Given the description of an element on the screen output the (x, y) to click on. 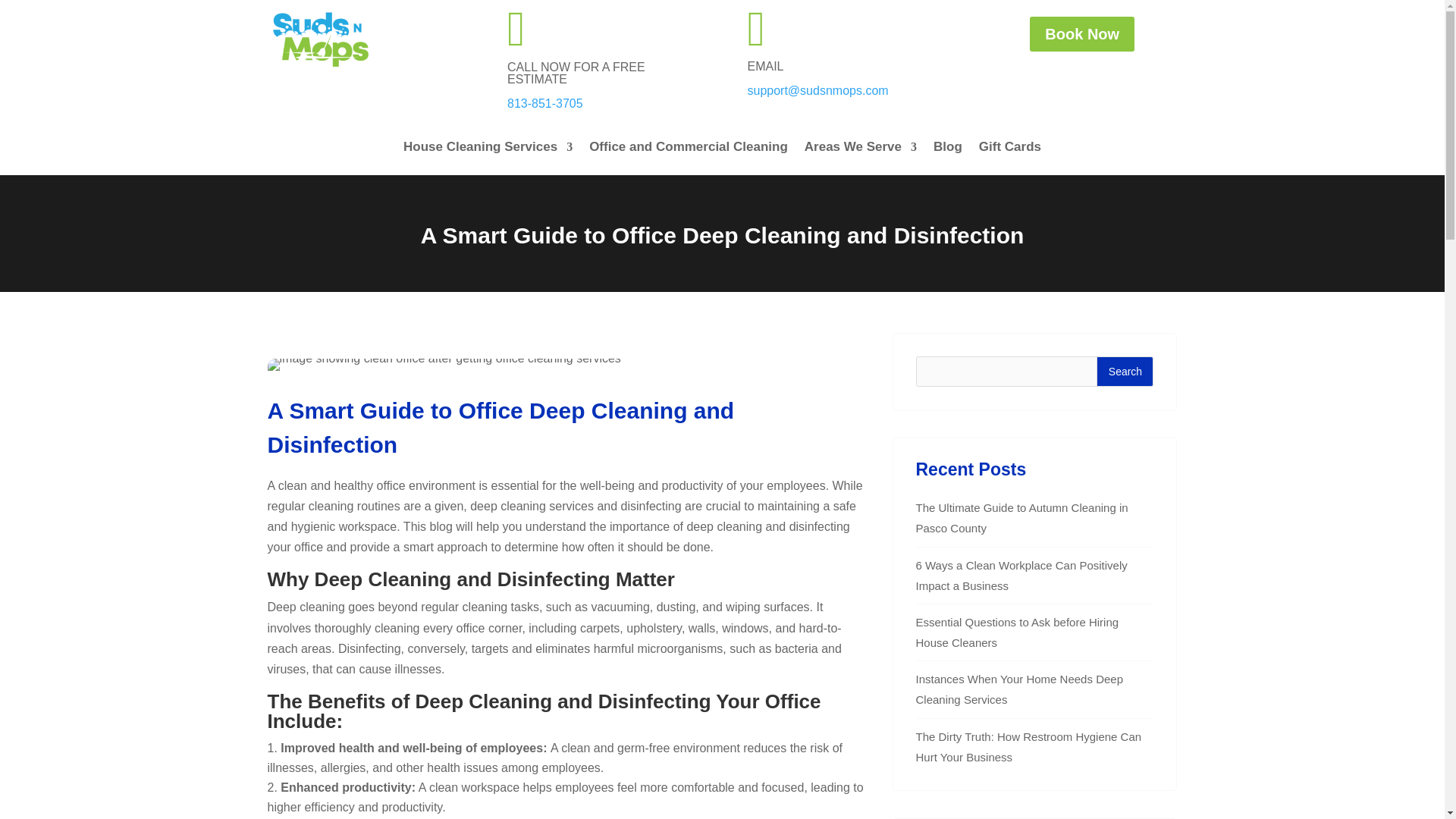
The Dirty Truth: How Restroom Hygiene Can Hurt Your Business (1028, 746)
Essential Questions to Ask before Hiring House Cleaners (1017, 632)
6 Ways a Clean Workplace Can Positively Impact a Business (1020, 575)
Blog (947, 149)
813-851-3705 (544, 103)
Office and Commercial Cleaning (688, 149)
Gift Cards (1009, 149)
Book Now (1081, 33)
Instances When Your Home Needs Deep Cleaning Services (1019, 688)
Areas We Serve (861, 149)
